Given the description of an element on the screen output the (x, y) to click on. 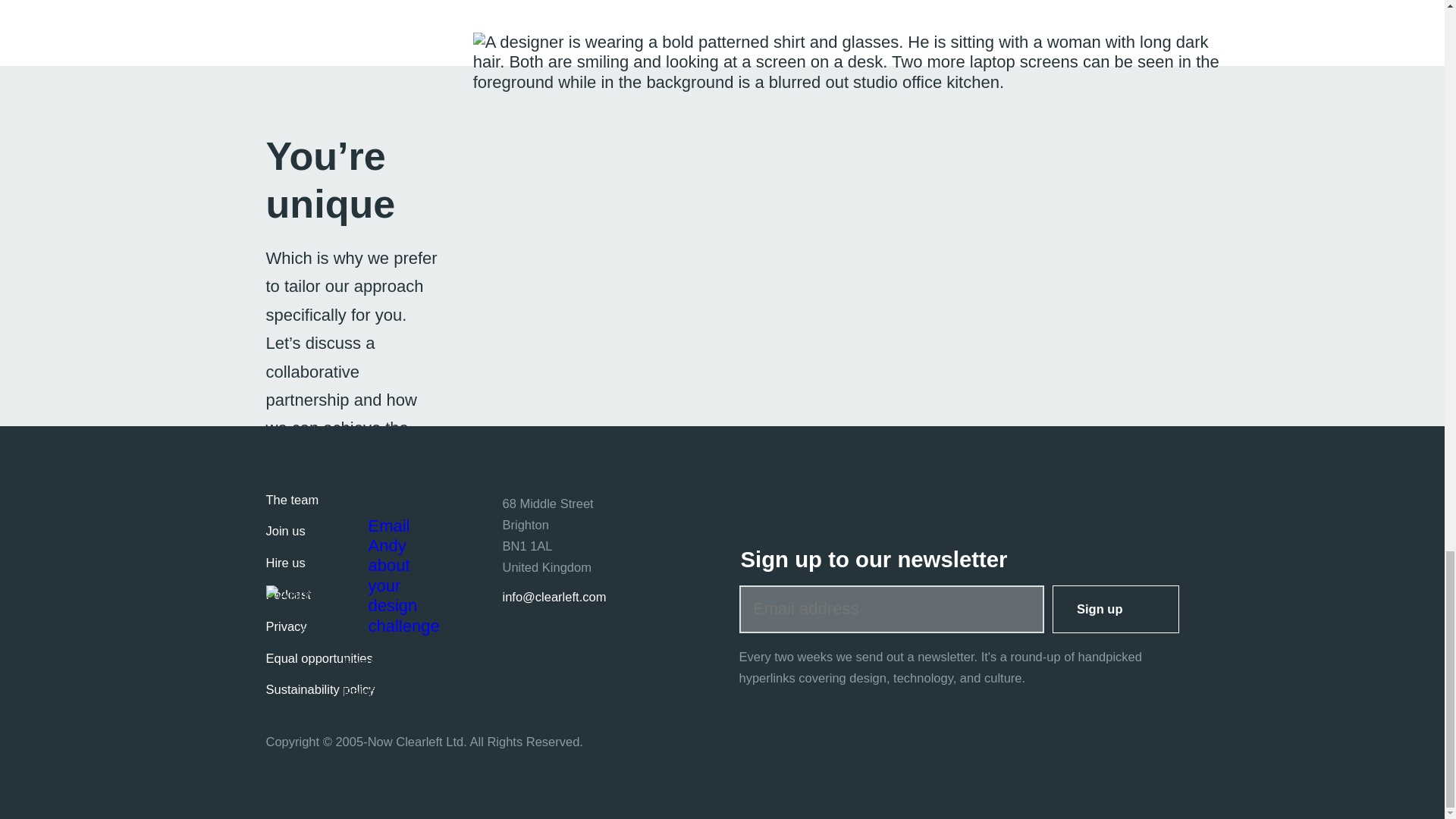
Hire us (284, 563)
Join us (284, 531)
Privacy (284, 626)
Equal opportunities (318, 658)
The team (291, 499)
Sustainability policy (319, 689)
Podcast (287, 594)
